Given the description of an element on the screen output the (x, y) to click on. 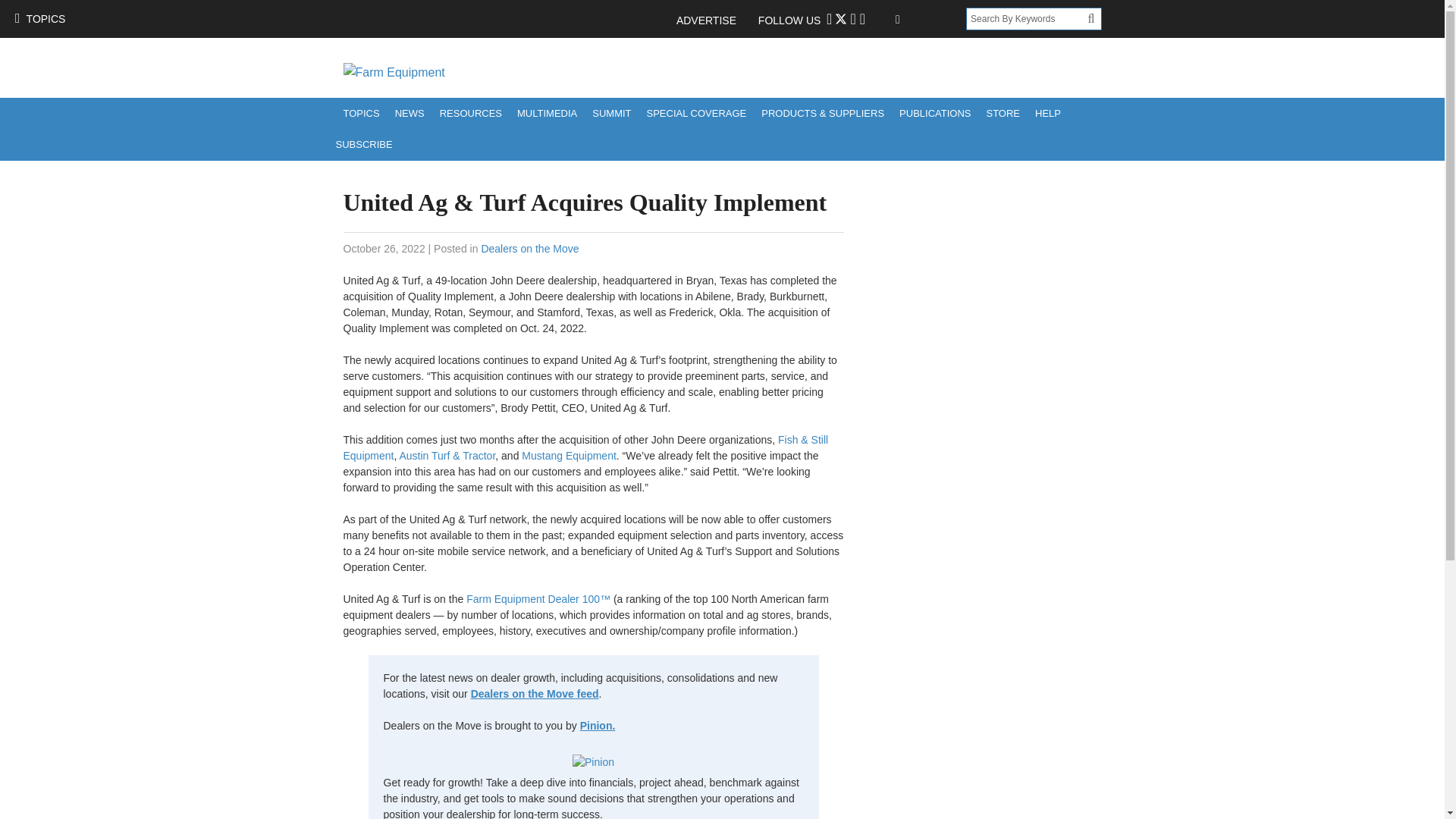
Search By Keywords (1026, 18)
ADVERTISE (714, 20)
TOPICS (360, 112)
TOPICS (39, 18)
Search By Keywords (1026, 18)
